Given the description of an element on the screen output the (x, y) to click on. 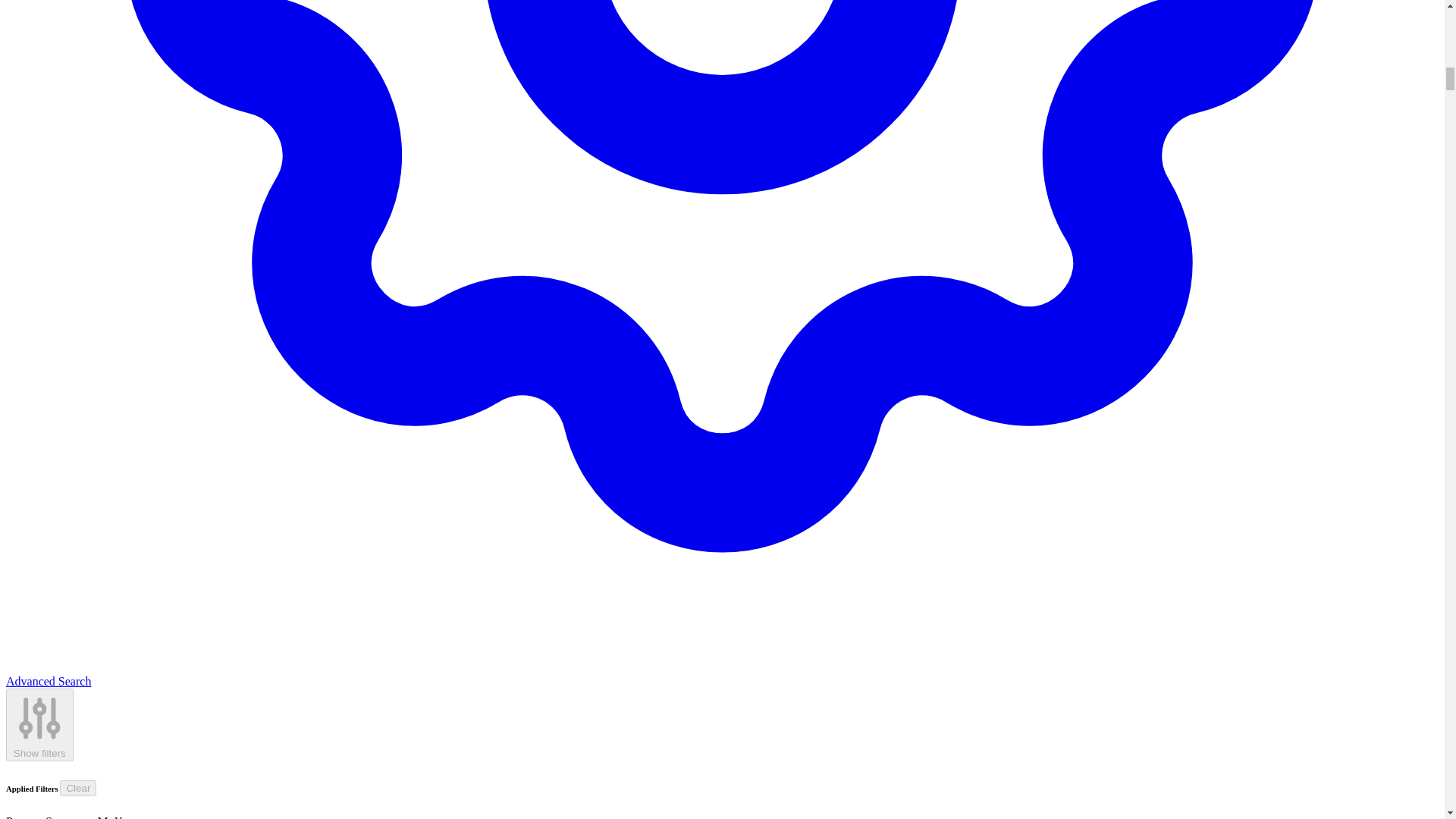
Clear (77, 788)
Show filters (39, 725)
